Given the description of an element on the screen output the (x, y) to click on. 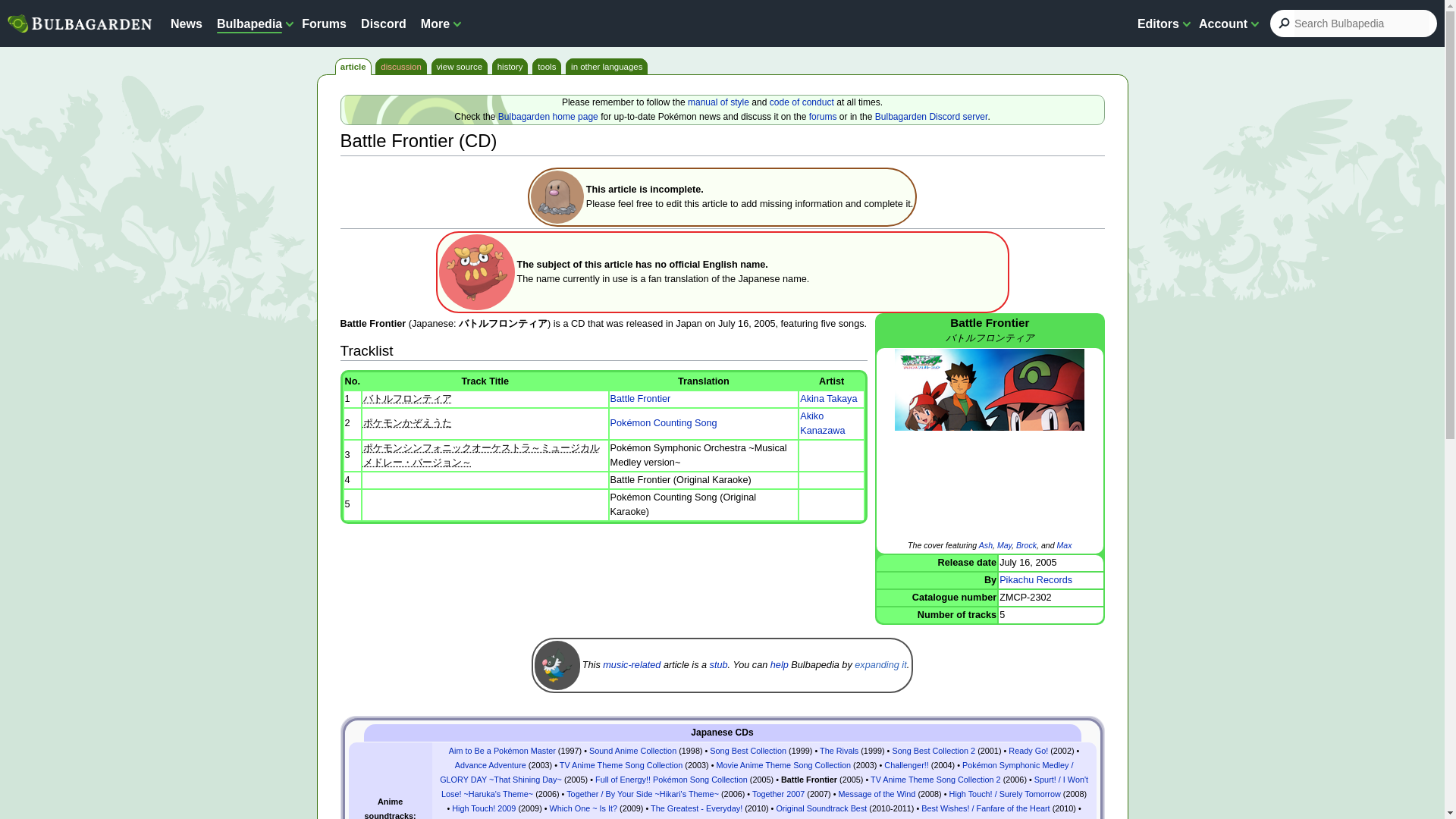
Bulbapedia (249, 22)
Brock (1026, 544)
Max (1064, 544)
Pikachu Records (1034, 579)
Akina Takaya (828, 398)
Bulbapedia:Code of conduct (802, 102)
Bulbapedia:Manual of style (718, 102)
Pokemon Kazoe Uta (406, 422)
Batoru Furontia (406, 398)
Akiko Kanazawa (821, 423)
